Given the description of an element on the screen output the (x, y) to click on. 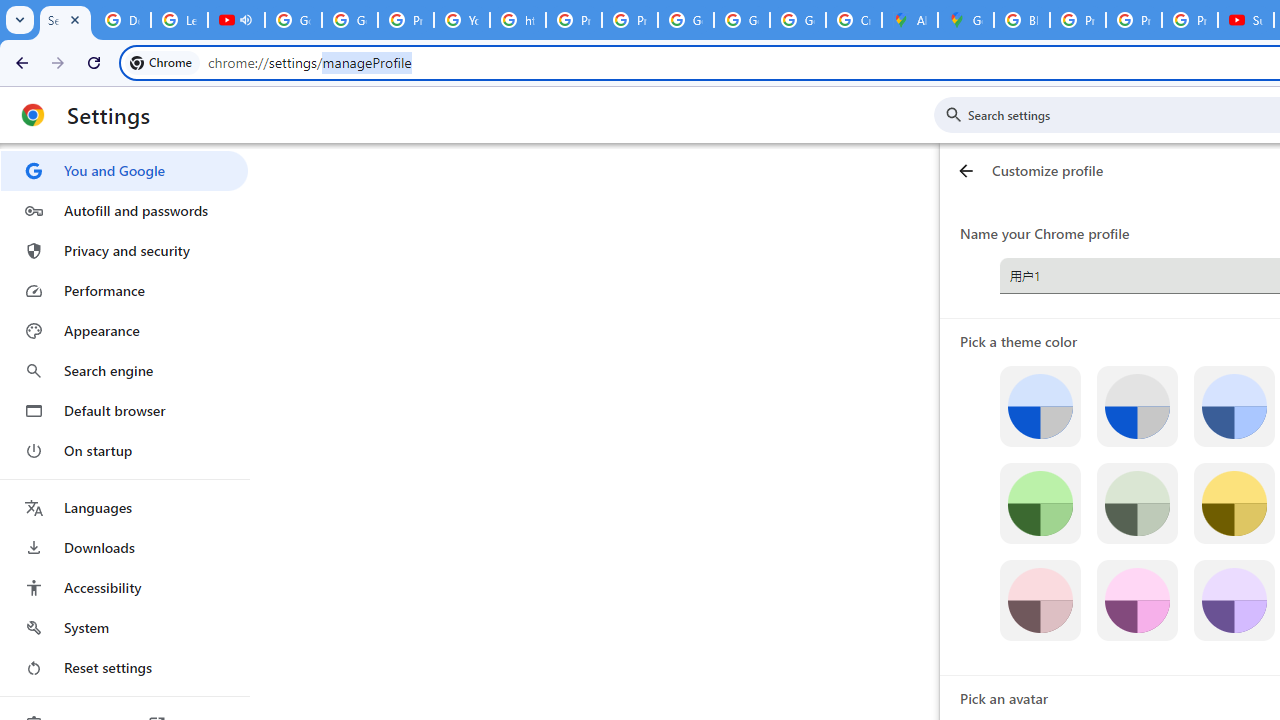
Reset settings (124, 668)
Appearance (124, 331)
Performance (124, 290)
Privacy Help Center - Policies Help (405, 20)
Search engine (124, 370)
